Given the description of an element on the screen output the (x, y) to click on. 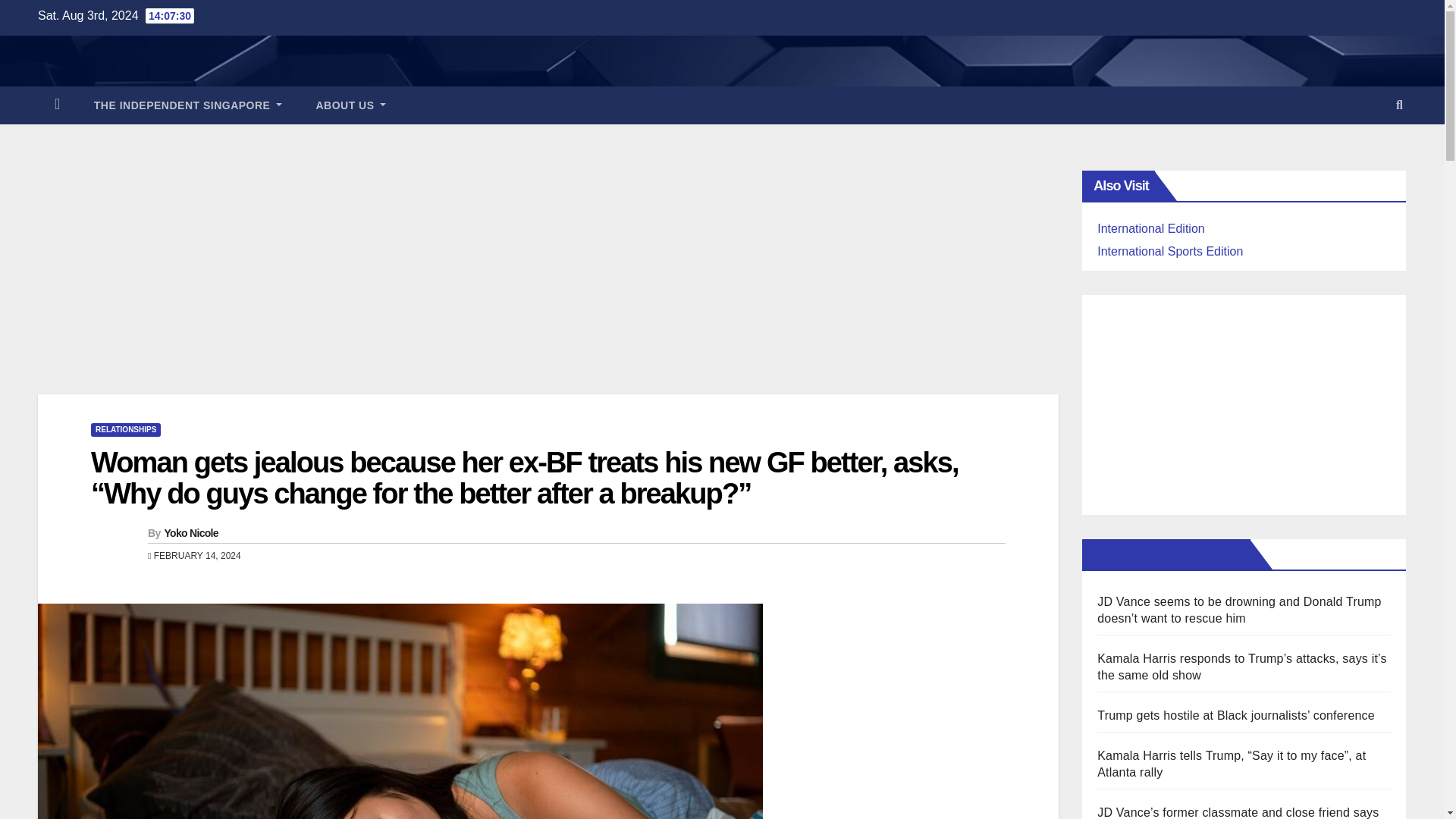
RELATIONSHIPS (125, 429)
ABOUT US (350, 105)
The Independent Singapore (188, 105)
THE INDEPENDENT SINGAPORE (188, 105)
Yoko Nicole (189, 532)
Home (57, 105)
